Given the description of an element on the screen output the (x, y) to click on. 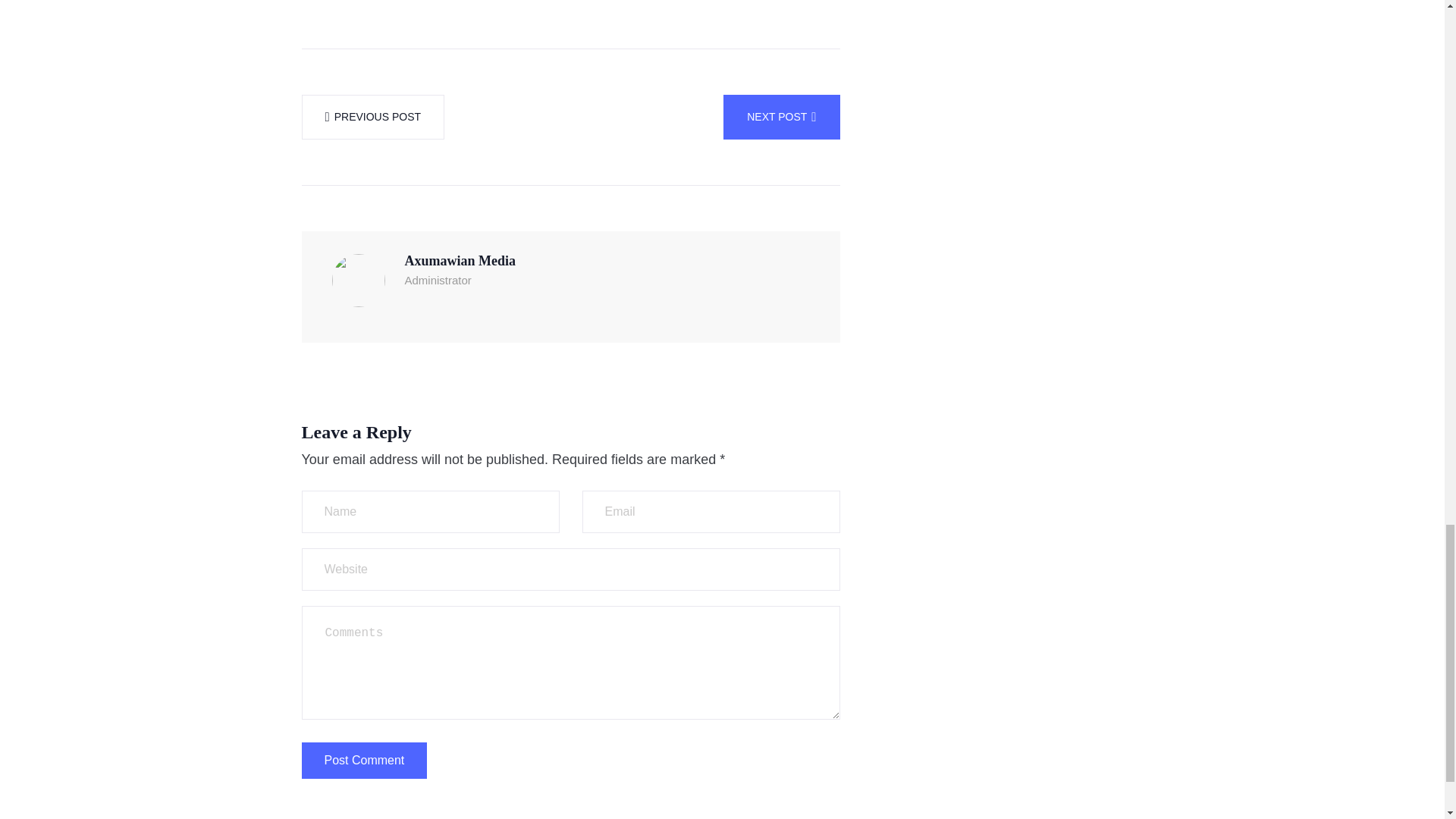
Post Comment (364, 760)
